Given the description of an element on the screen output the (x, y) to click on. 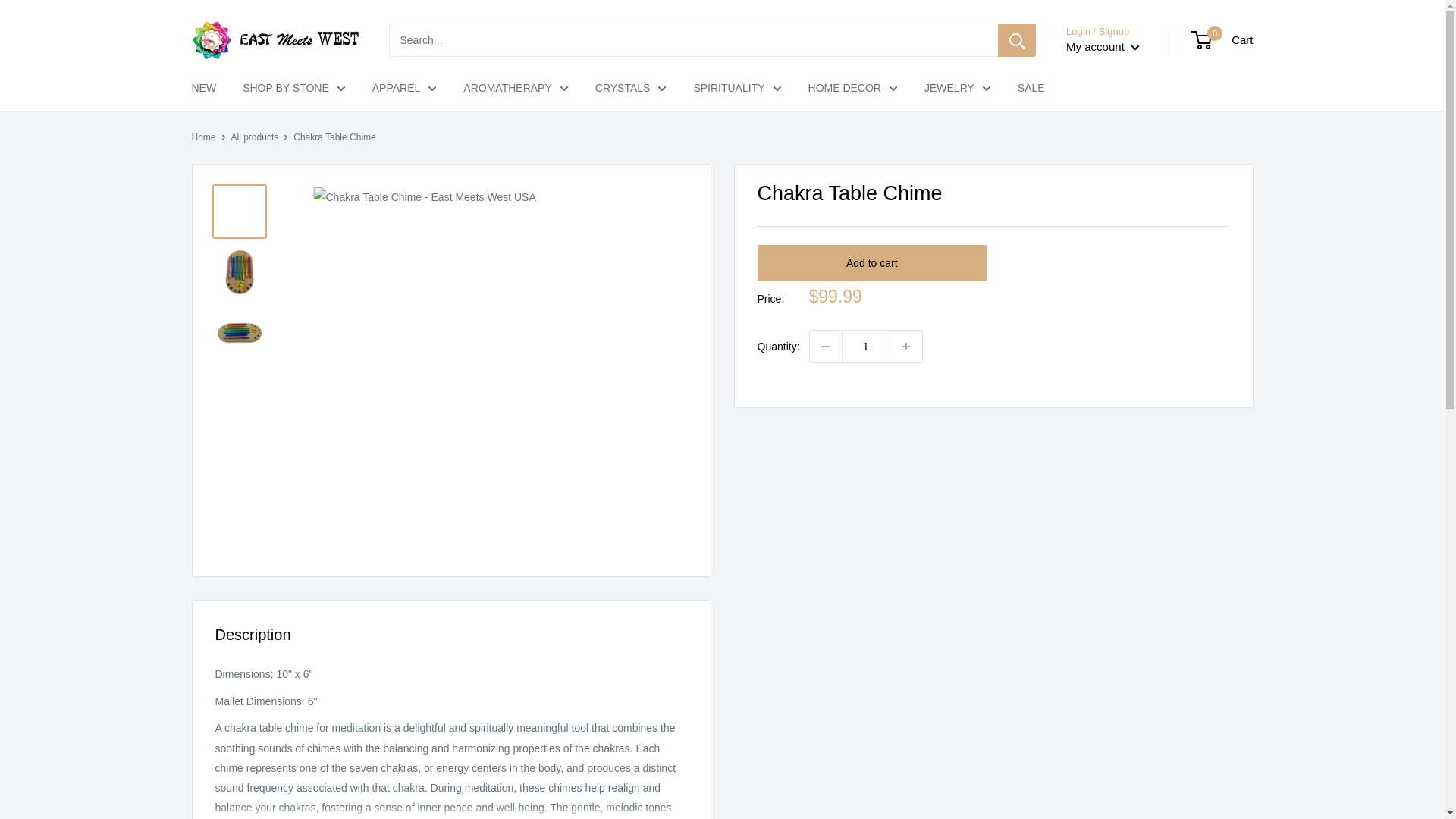
Decrease quantity by 1 (825, 346)
Increase quantity by 1 (905, 346)
1 (865, 346)
